Given the description of an element on the screen output the (x, y) to click on. 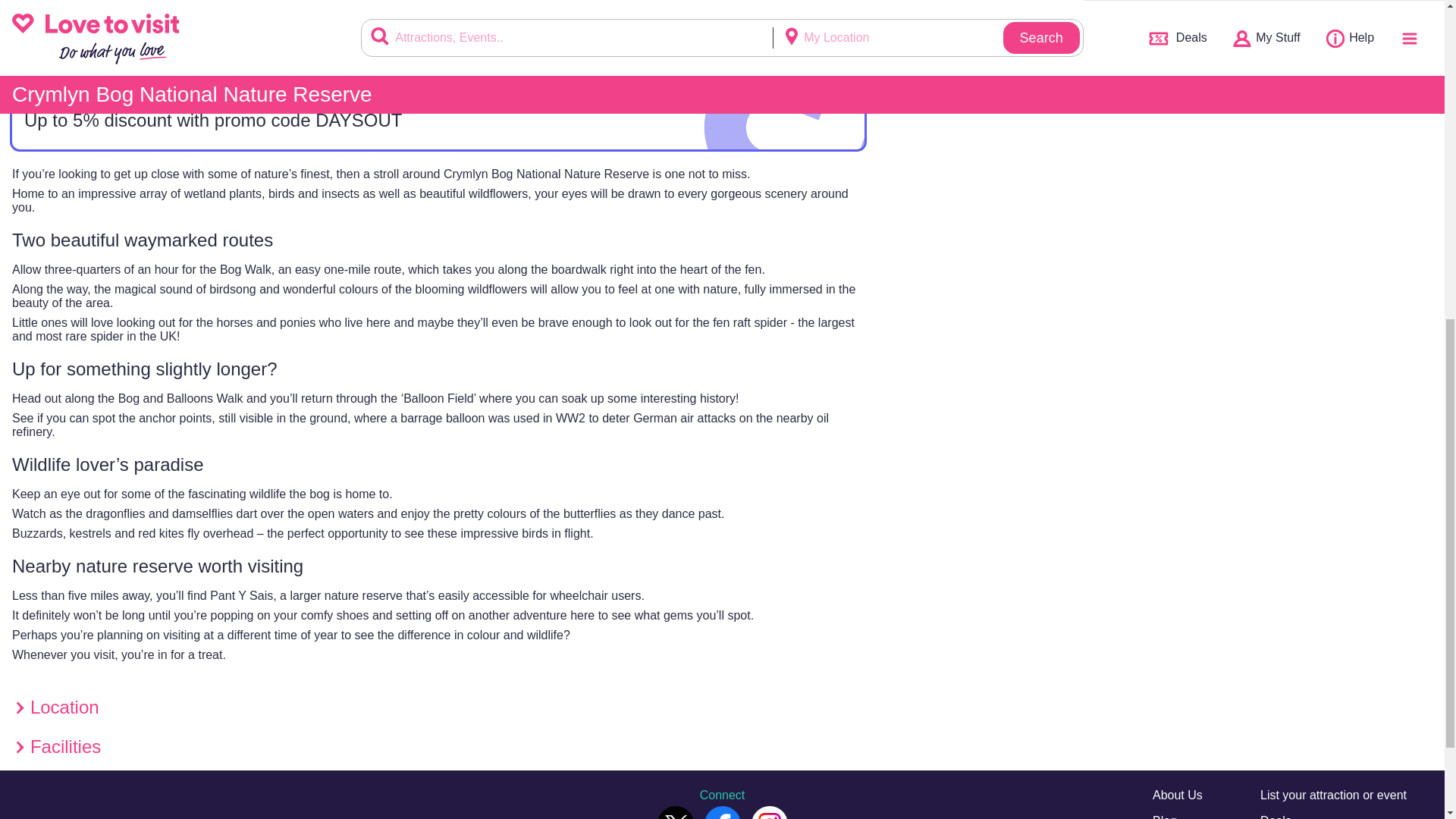
Facilities (437, 746)
About Us (1177, 794)
Facilities (651, 44)
List your attraction or event (1333, 794)
Location (437, 707)
Location (224, 44)
